Given the description of an element on the screen output the (x, y) to click on. 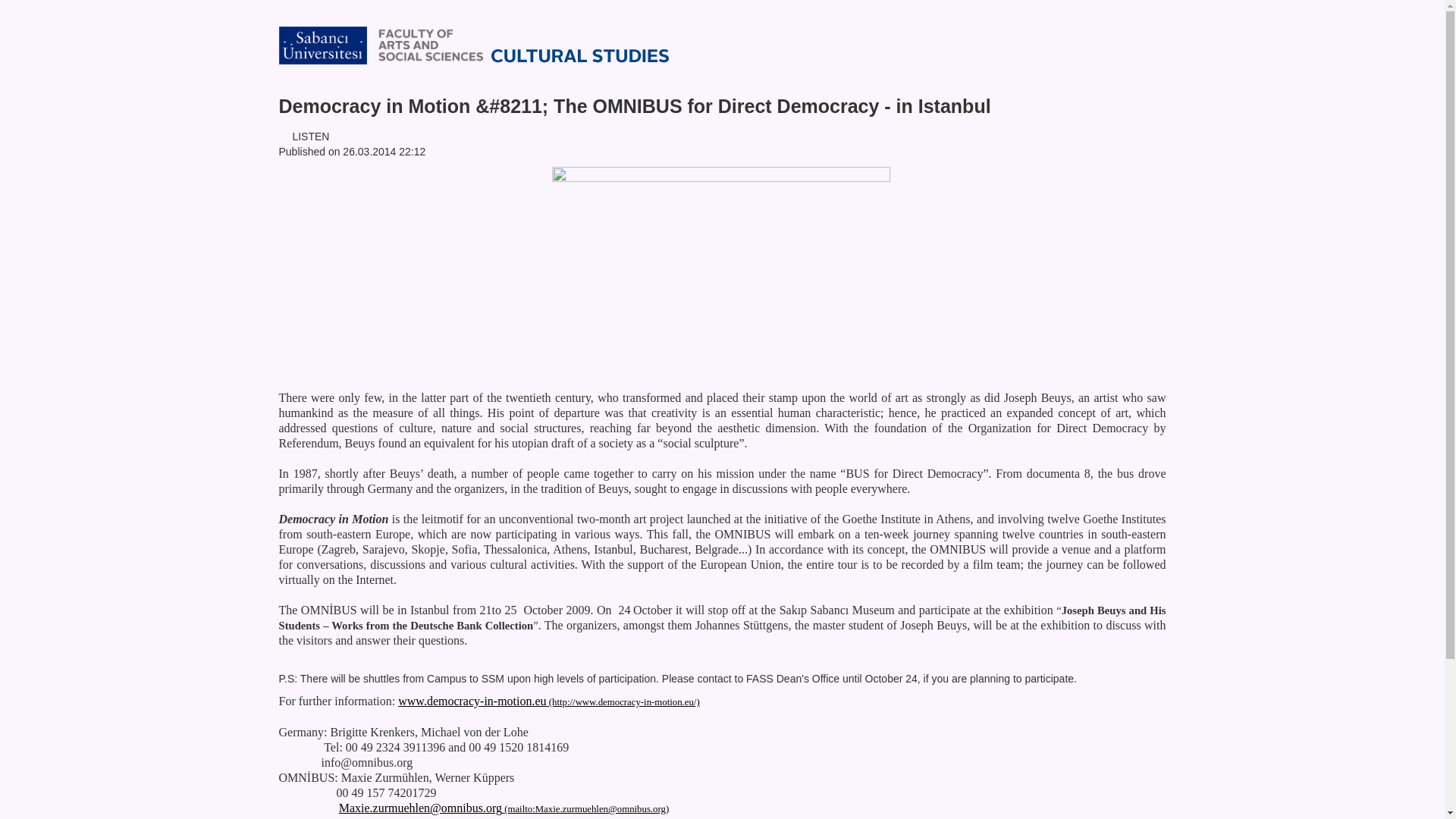
Home (596, 44)
